Given the description of an element on the screen output the (x, y) to click on. 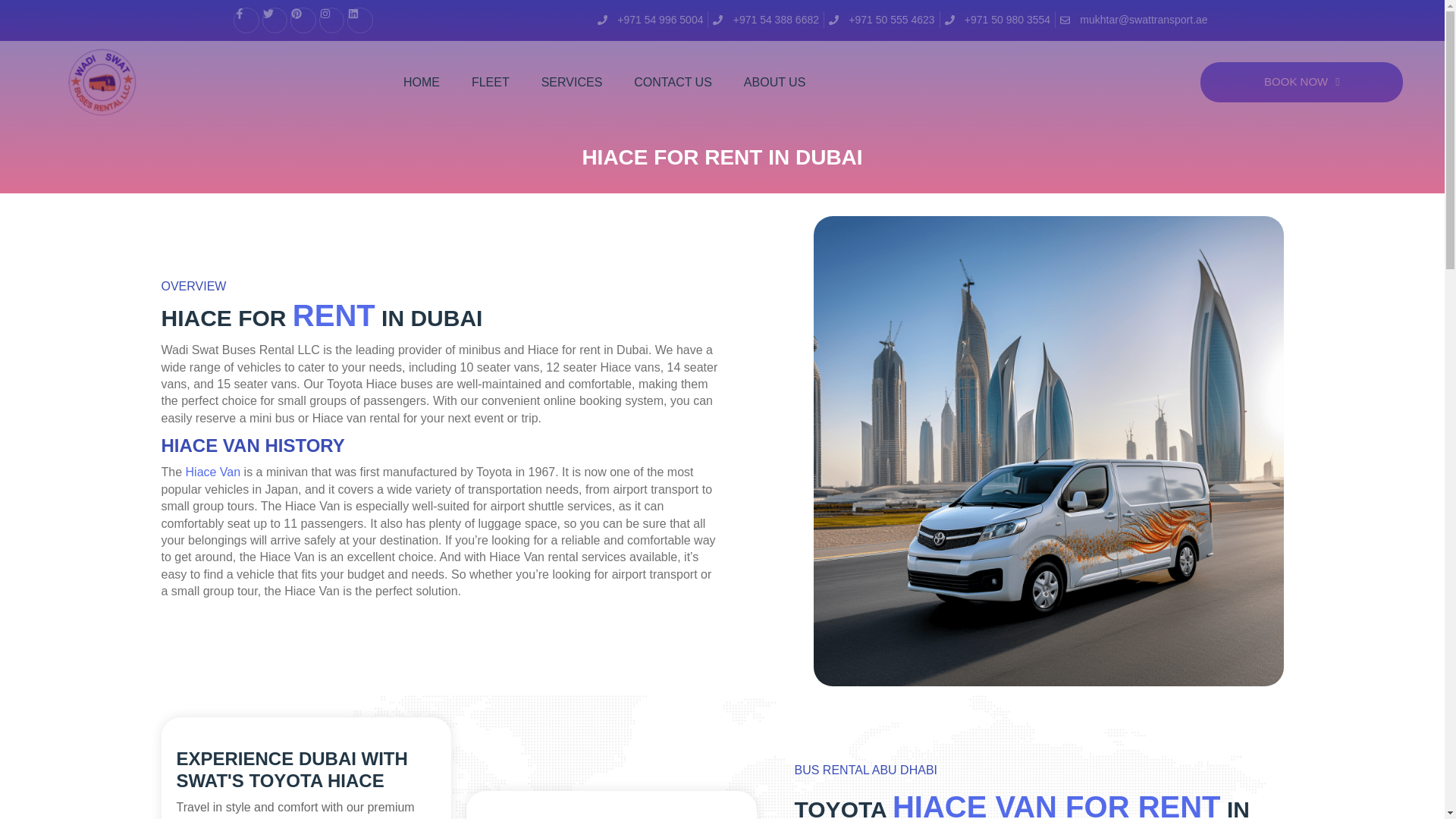
CONTACT US (673, 82)
ABOUT US (774, 82)
BOOK NOW (1301, 82)
FLEET (490, 82)
HOME (421, 82)
SERVICES (571, 82)
Hiace Van (213, 472)
